Given the description of an element on the screen output the (x, y) to click on. 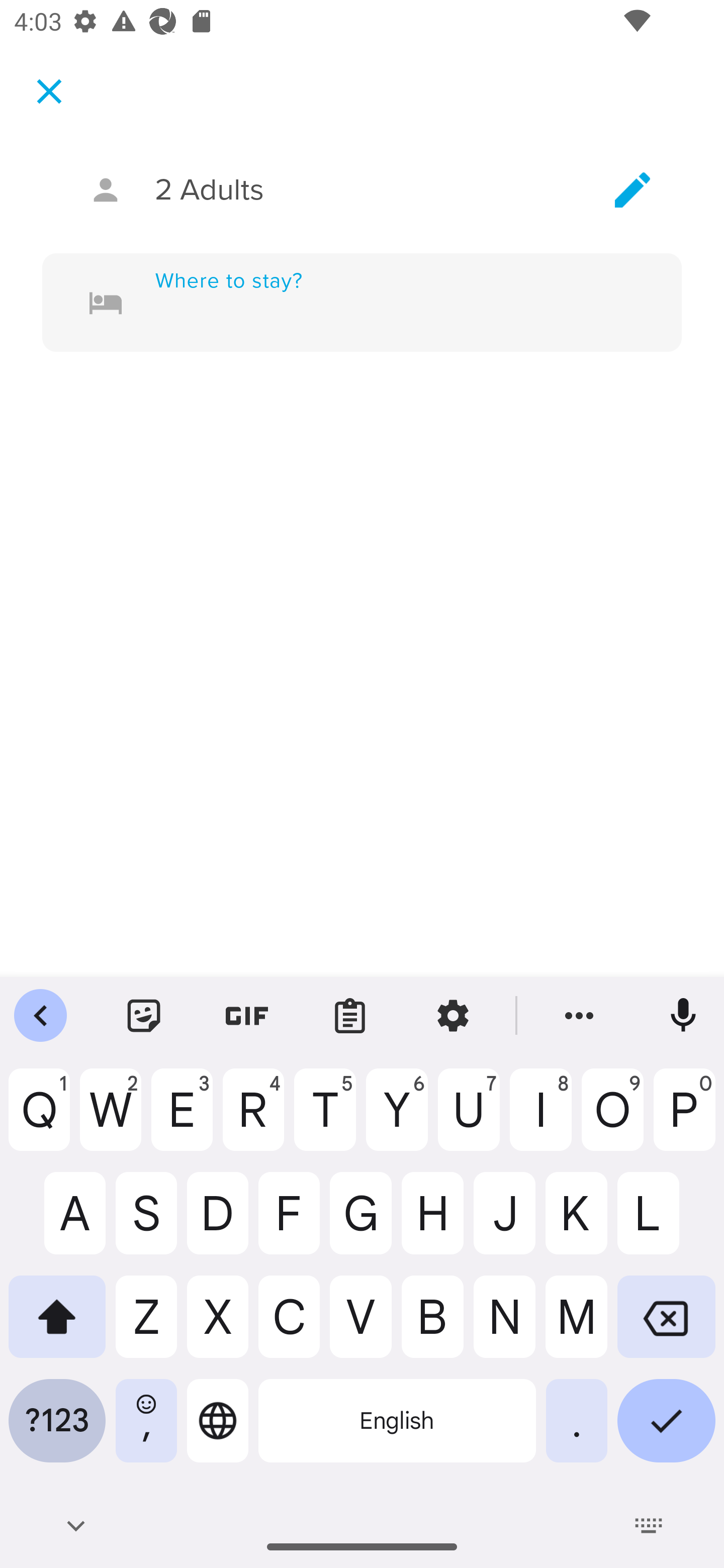
Navigate up (49, 91)
2 Adults (361, 190)
Where to stay? (389, 302)
